Given the description of an element on the screen output the (x, y) to click on. 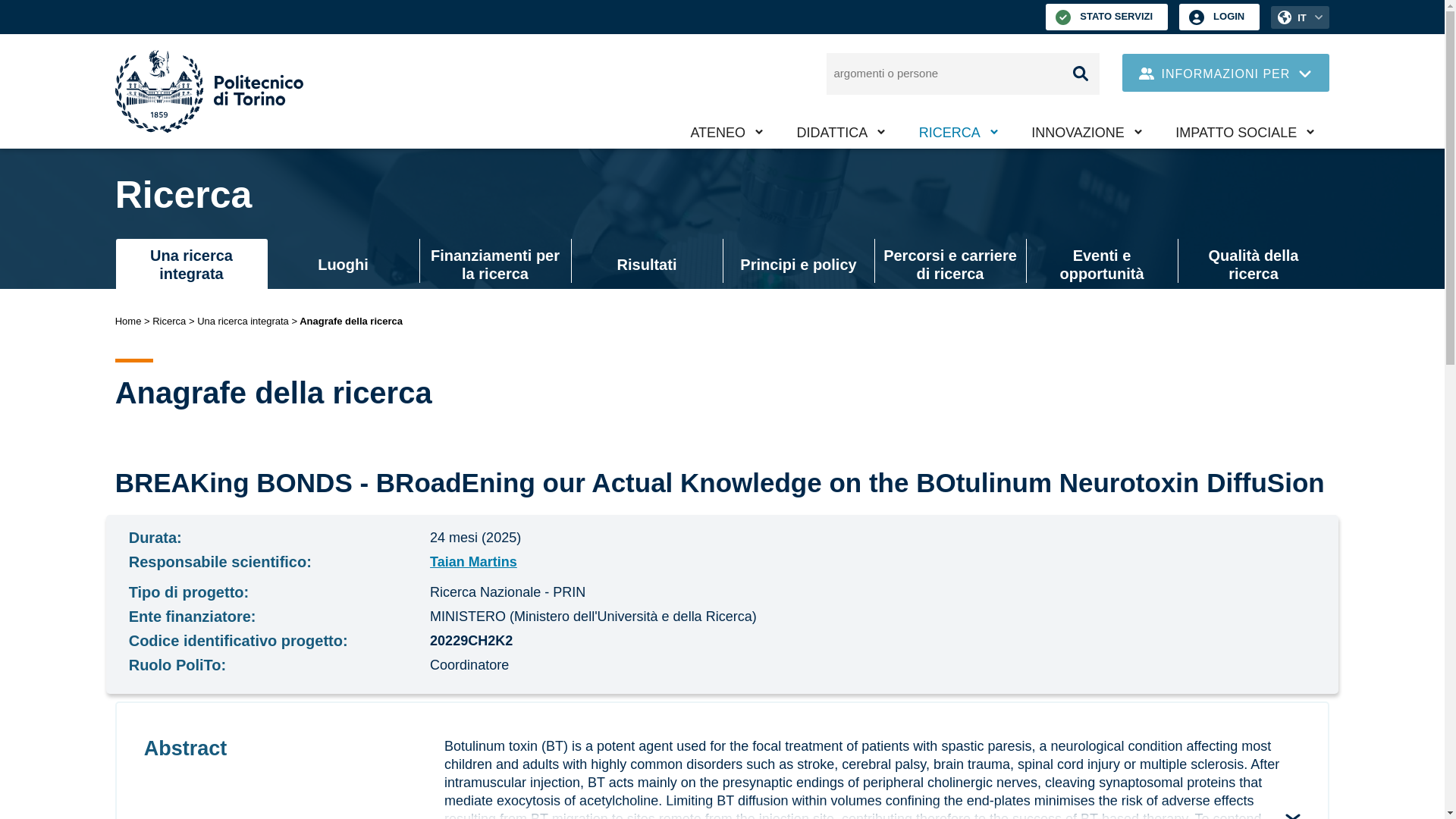
ATENEO (726, 132)
Didattica (841, 132)
DIDATTICA (841, 132)
LOGIN (1219, 17)
STATO SERVIZI (1106, 17)
Cerca (1080, 74)
RICERCA (958, 132)
Ateneo (726, 132)
Stato Servizi (1106, 17)
